Given the description of an element on the screen output the (x, y) to click on. 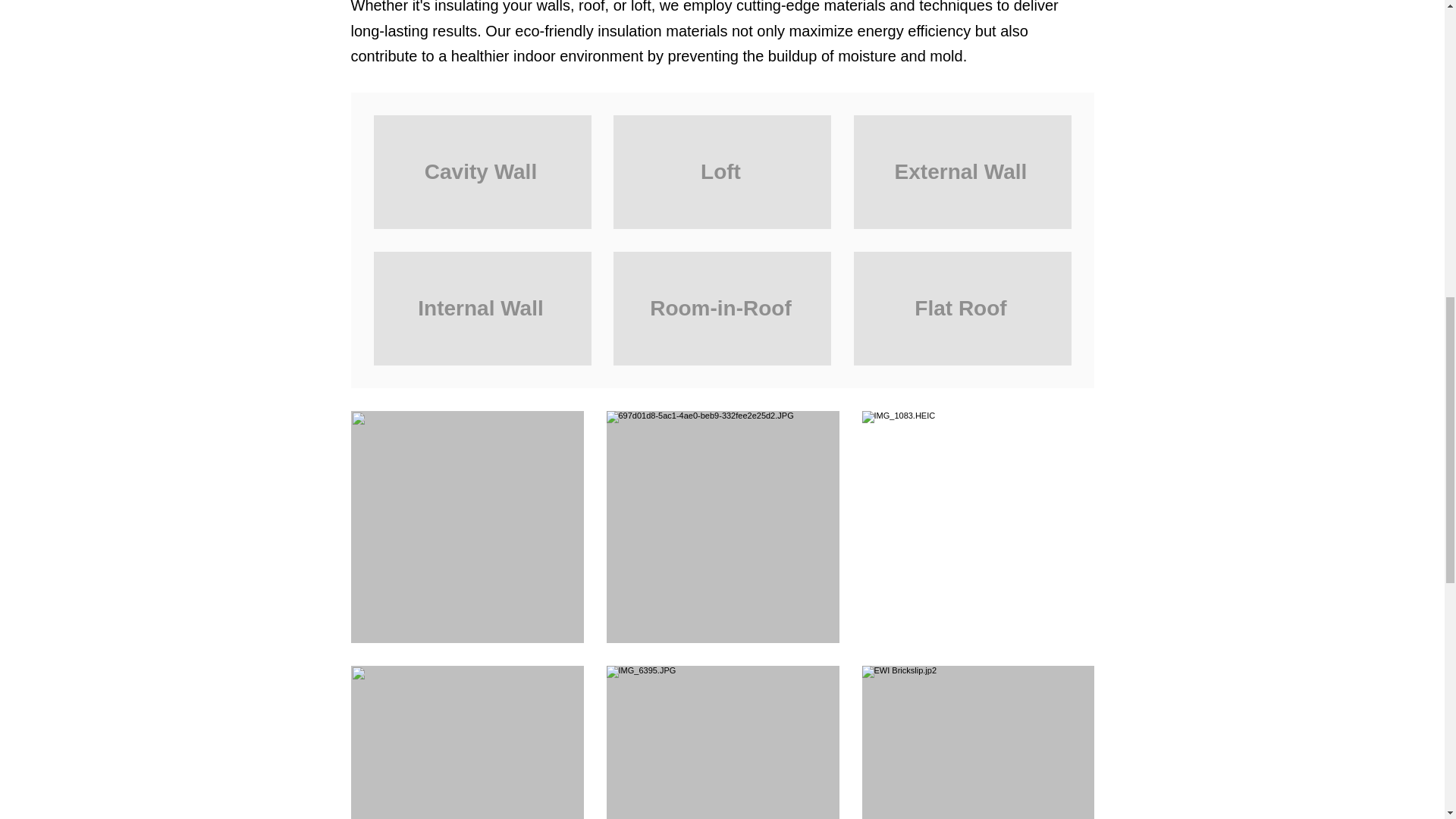
Internal Wall (481, 308)
Flat Roof (962, 308)
Loft (721, 172)
Cavity Wall (481, 172)
External Wall (962, 172)
Room-in-Roof (721, 308)
